Given the description of an element on the screen output the (x, y) to click on. 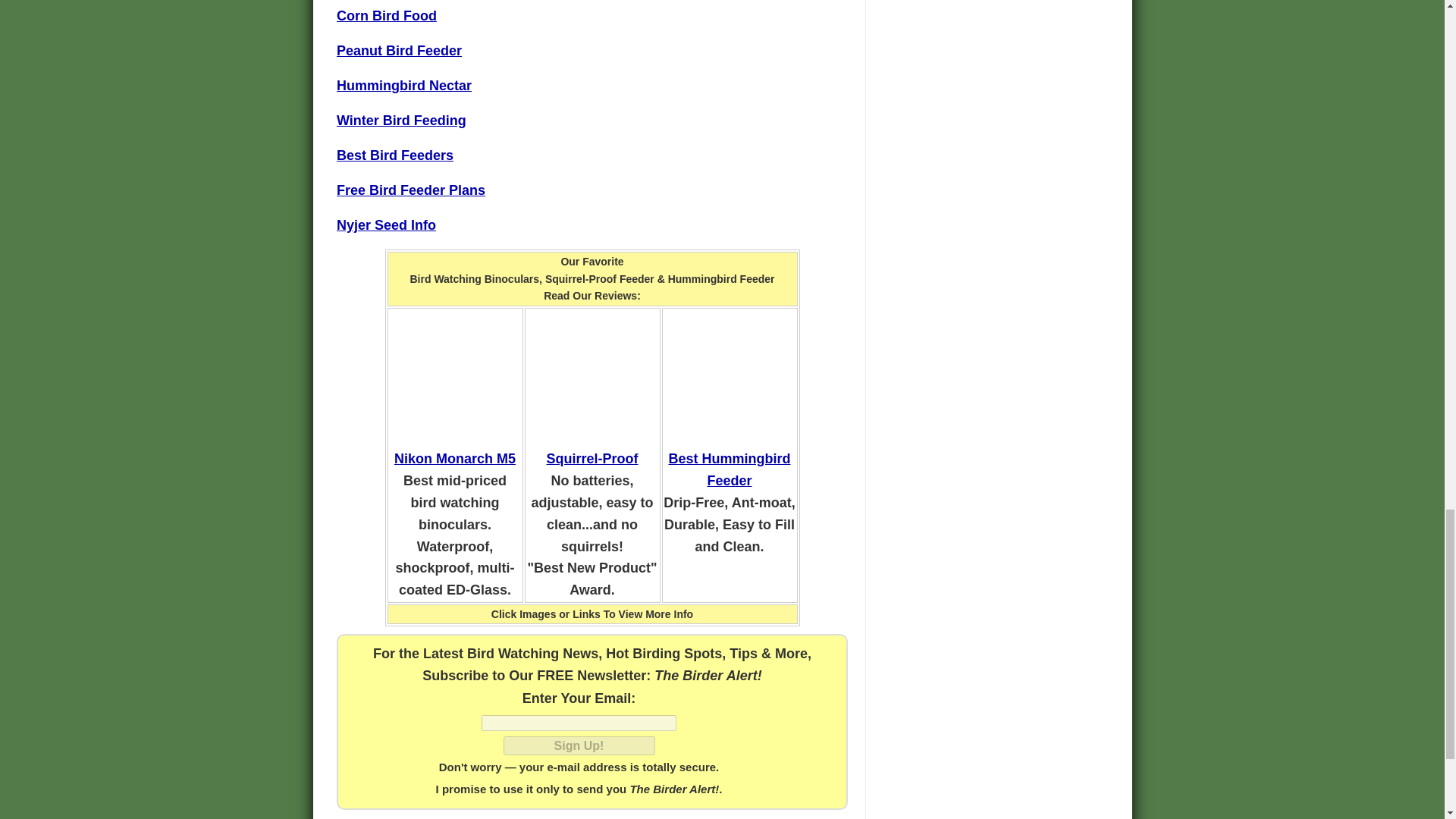
Squirrel-Proof (591, 458)
Hummingbird Nectar (403, 85)
Free Bird Feeder Plans (410, 190)
Peanut Bird Feeder (398, 50)
Best Hummingbird Feeder (729, 469)
Best Bird Feeders (394, 155)
Sign Up! (579, 745)
Nikon Monarch M5 (454, 458)
Winter Bird Feeding (400, 120)
Nyjer Seed Info (385, 224)
